Given the description of an element on the screen output the (x, y) to click on. 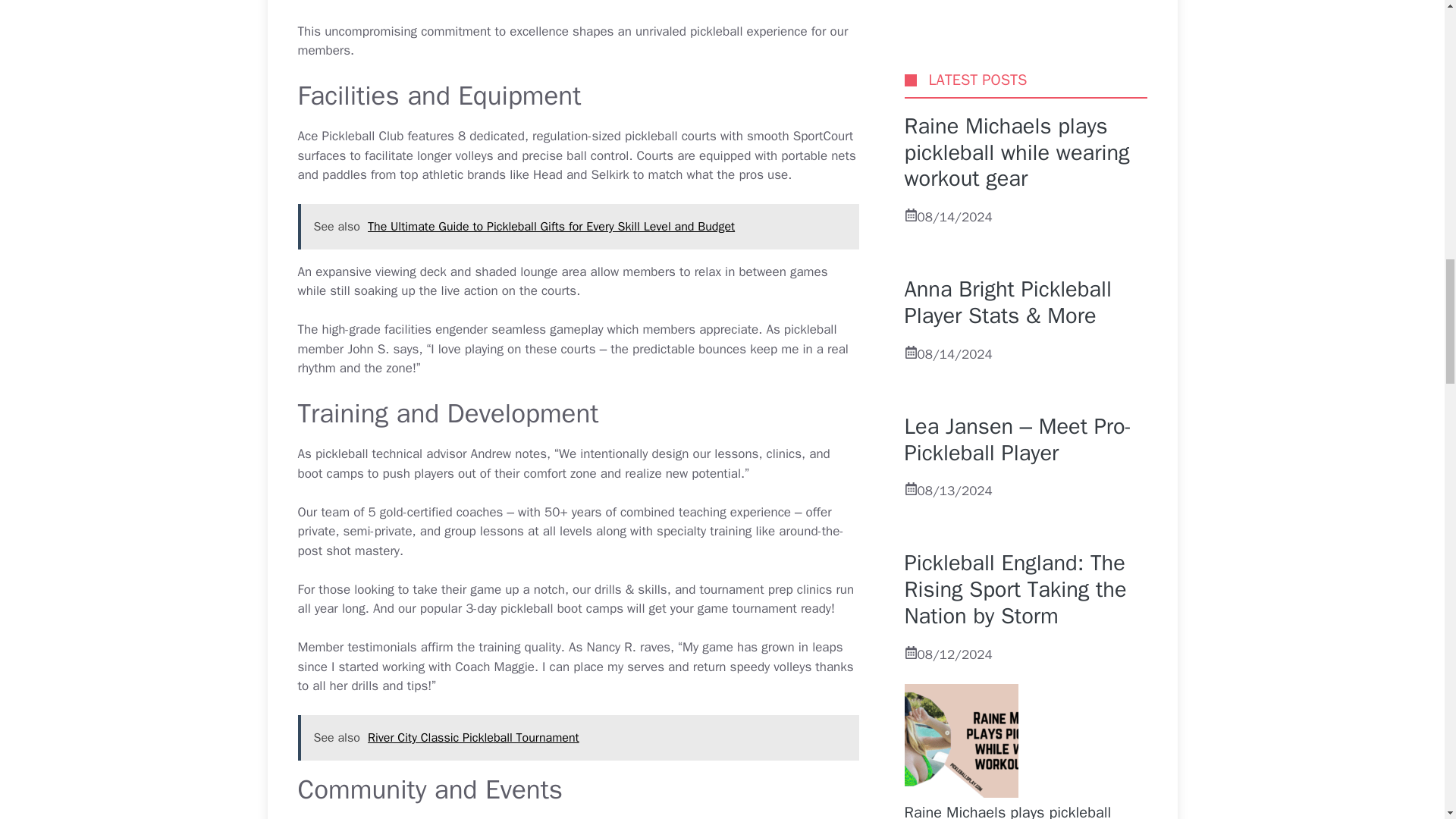
Advertisement (611, 7)
See also  River City Classic Pickleball Tournament (578, 737)
